Given the description of an element on the screen output the (x, y) to click on. 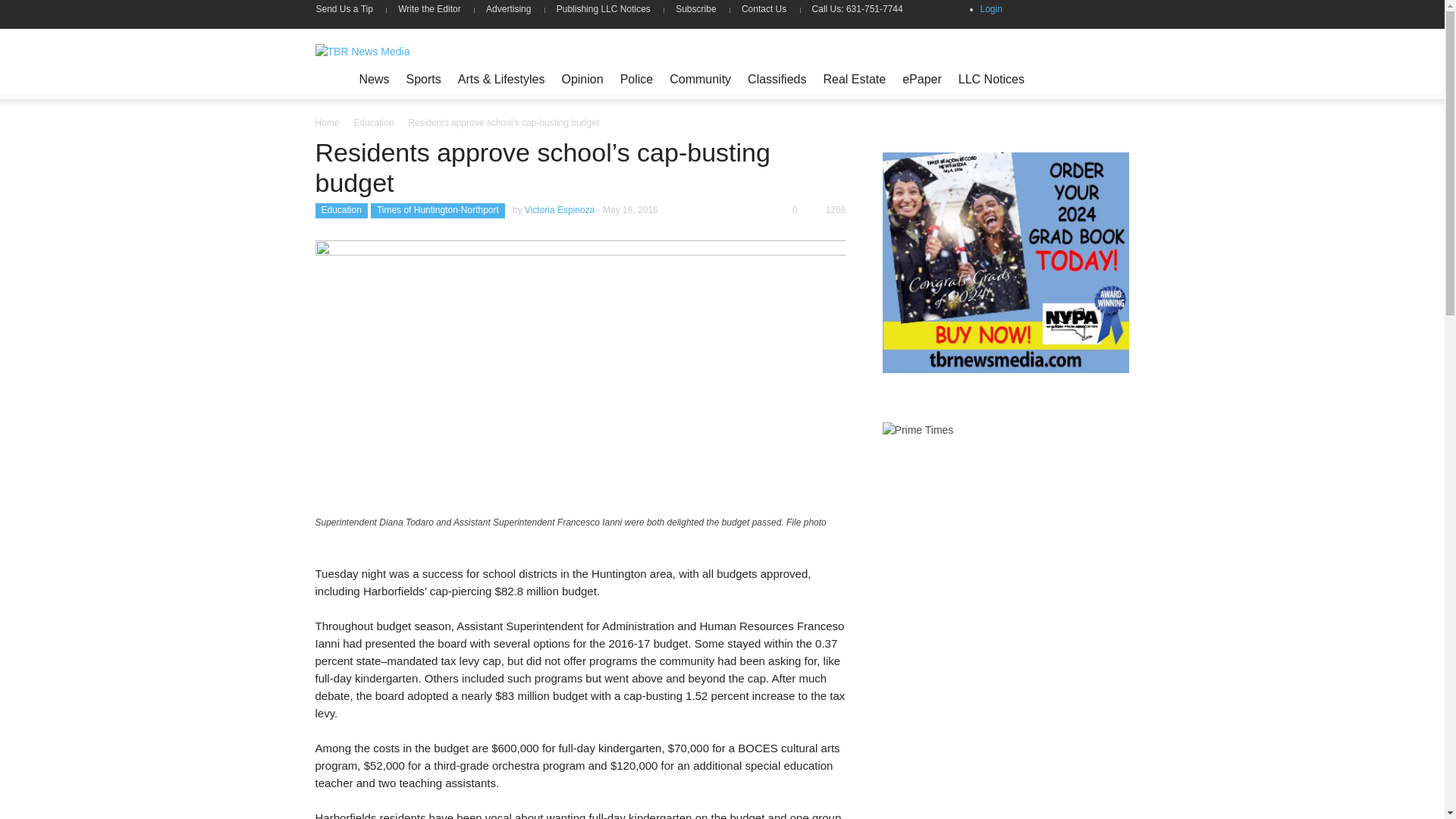
Send Us a Tip (349, 9)
Advertising (507, 9)
View all posts in Education (373, 122)
Contact Us (763, 9)
Send Us a Tip (349, 9)
Write the Editor (429, 9)
Write the Editor (429, 9)
Advertising (507, 9)
